Given the description of an element on the screen output the (x, y) to click on. 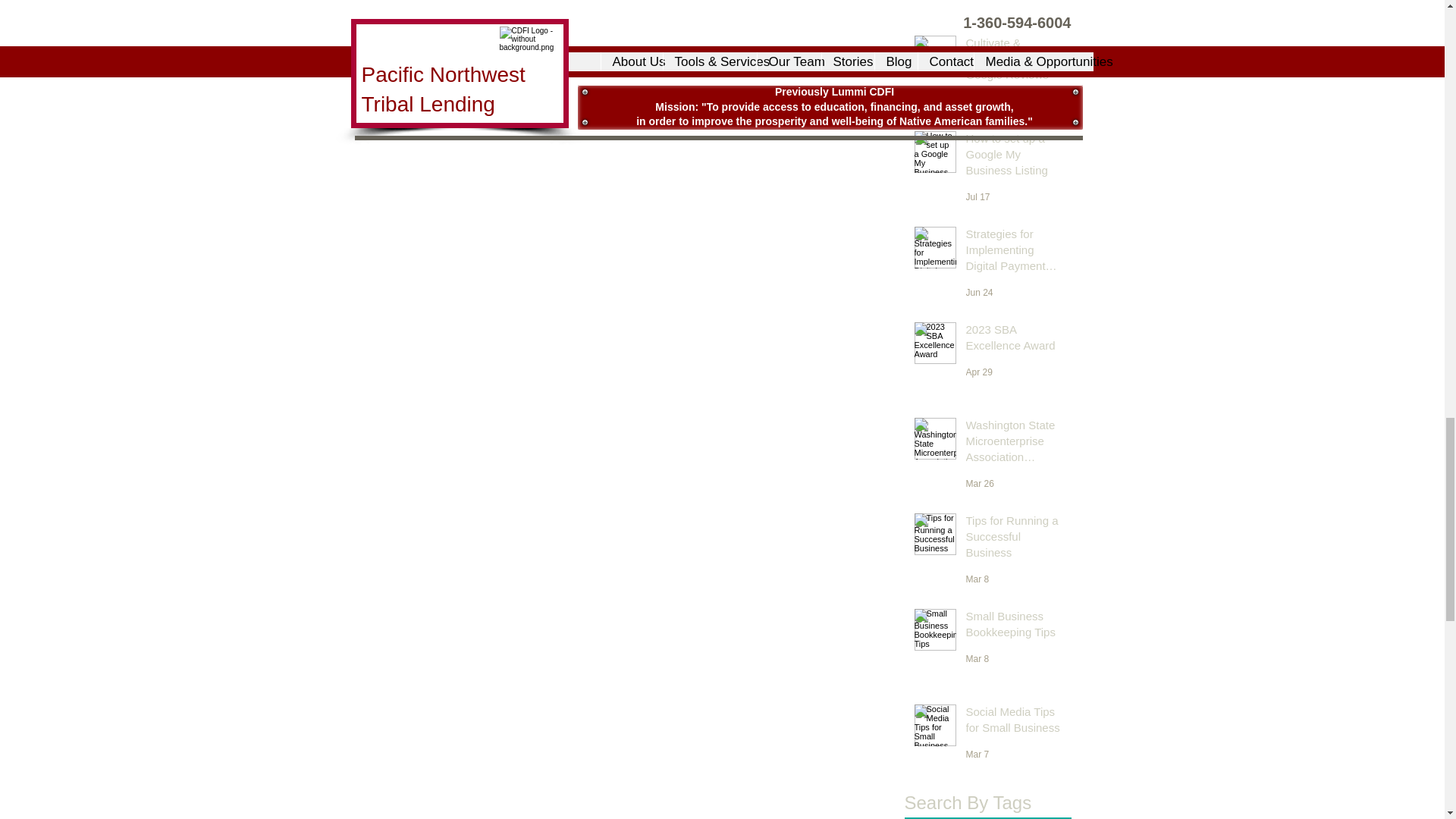
Apr 29 (979, 371)
Mar 26 (980, 483)
Jul 17 (978, 101)
Jul 17 (978, 196)
Mar 8 (978, 579)
Jun 24 (979, 292)
